Given the description of an element on the screen output the (x, y) to click on. 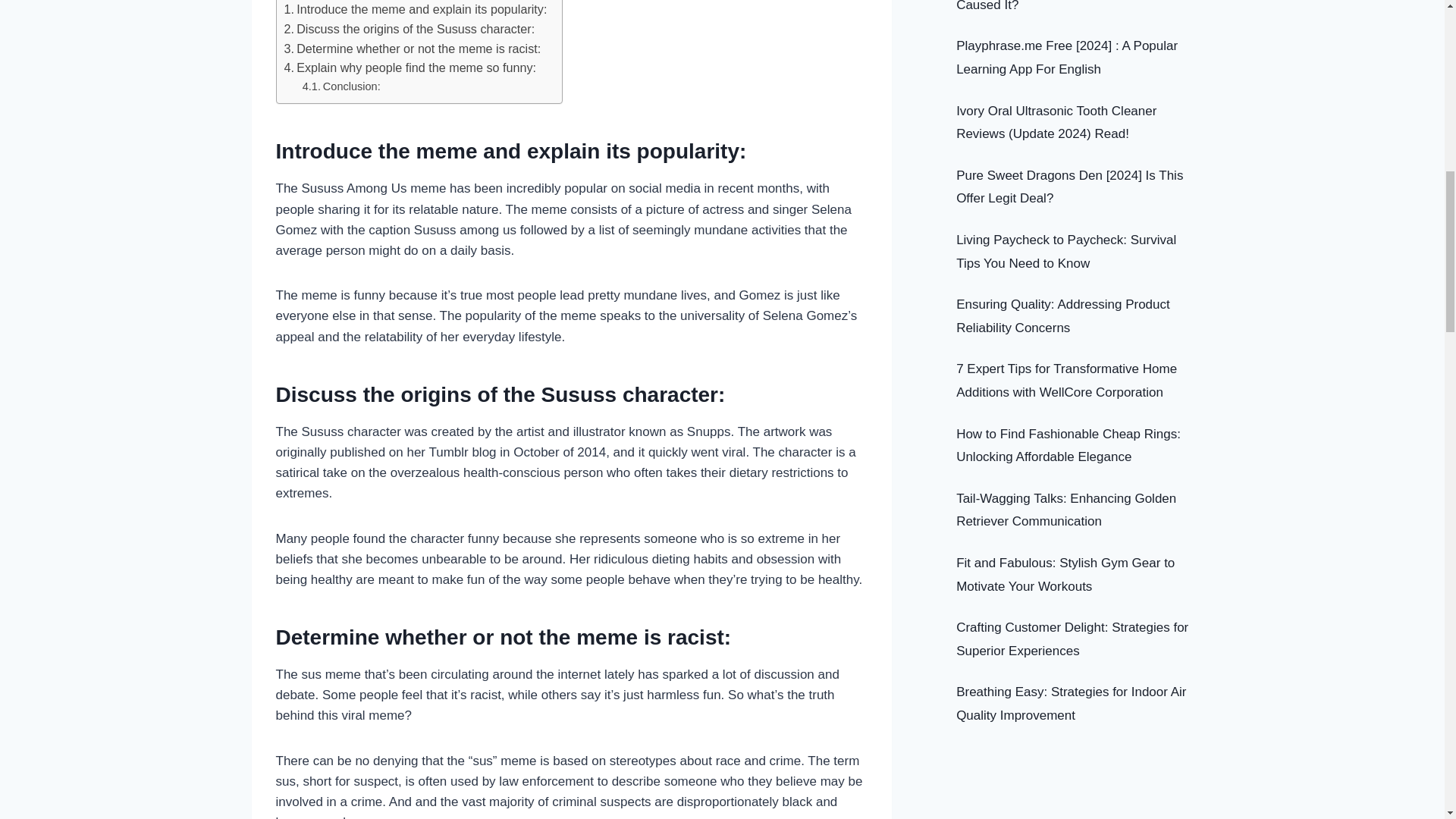
Explain why people find the meme so funny: (409, 67)
Determine whether or not the meme is racist: (411, 48)
Explain why people find the meme so funny: (409, 67)
Discuss the origins of the Sususs character: (408, 29)
Introduce the meme and explain its popularity: (415, 9)
Conclusion: (341, 86)
Determine whether or not the meme is racist: (411, 48)
Introduce the meme and explain its popularity: (415, 9)
Discuss the origins of the Sususs character: (408, 29)
Conclusion: (341, 86)
